Given the description of an element on the screen output the (x, y) to click on. 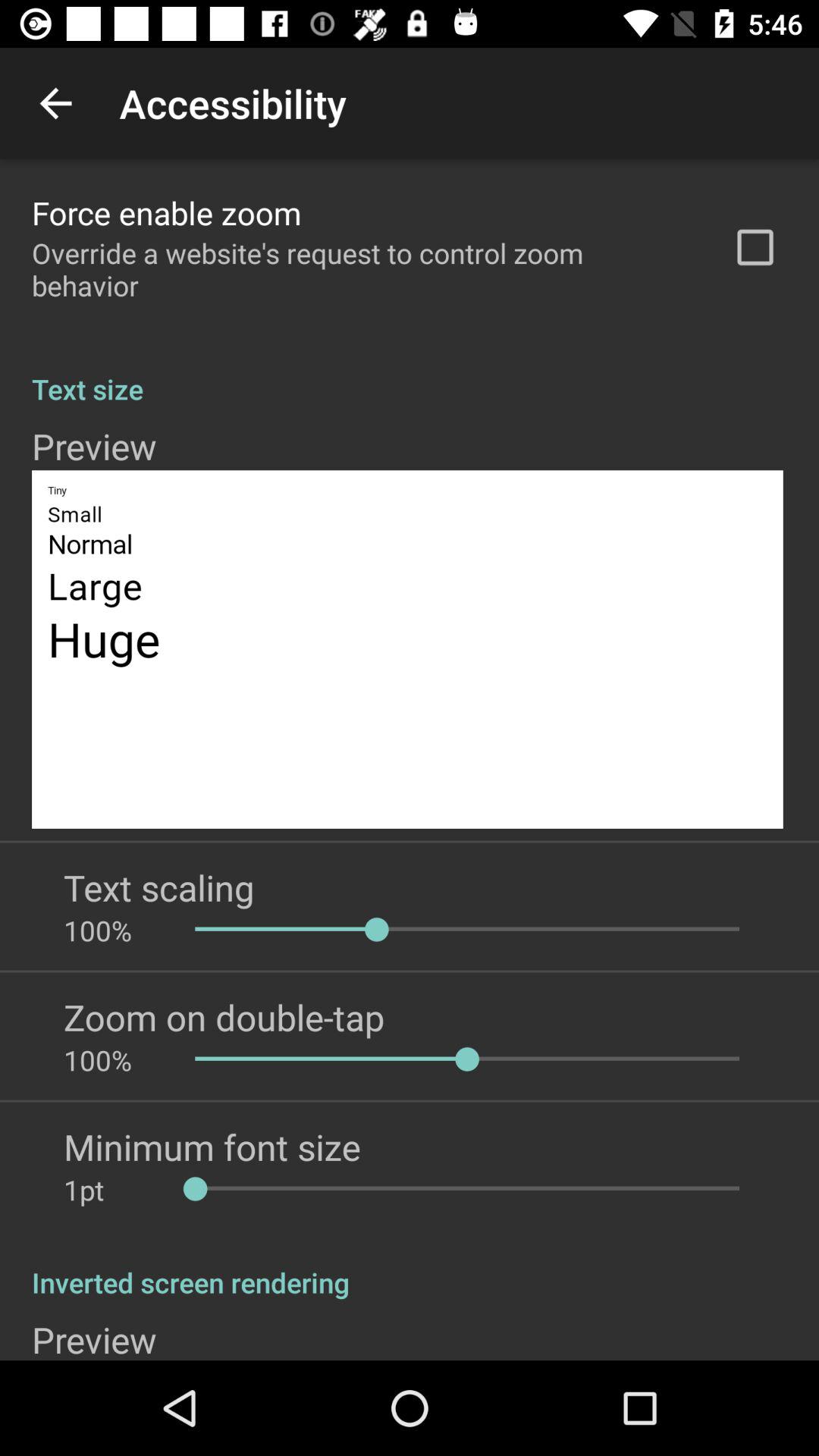
jump to the zoom on double (223, 1017)
